Given the description of an element on the screen output the (x, y) to click on. 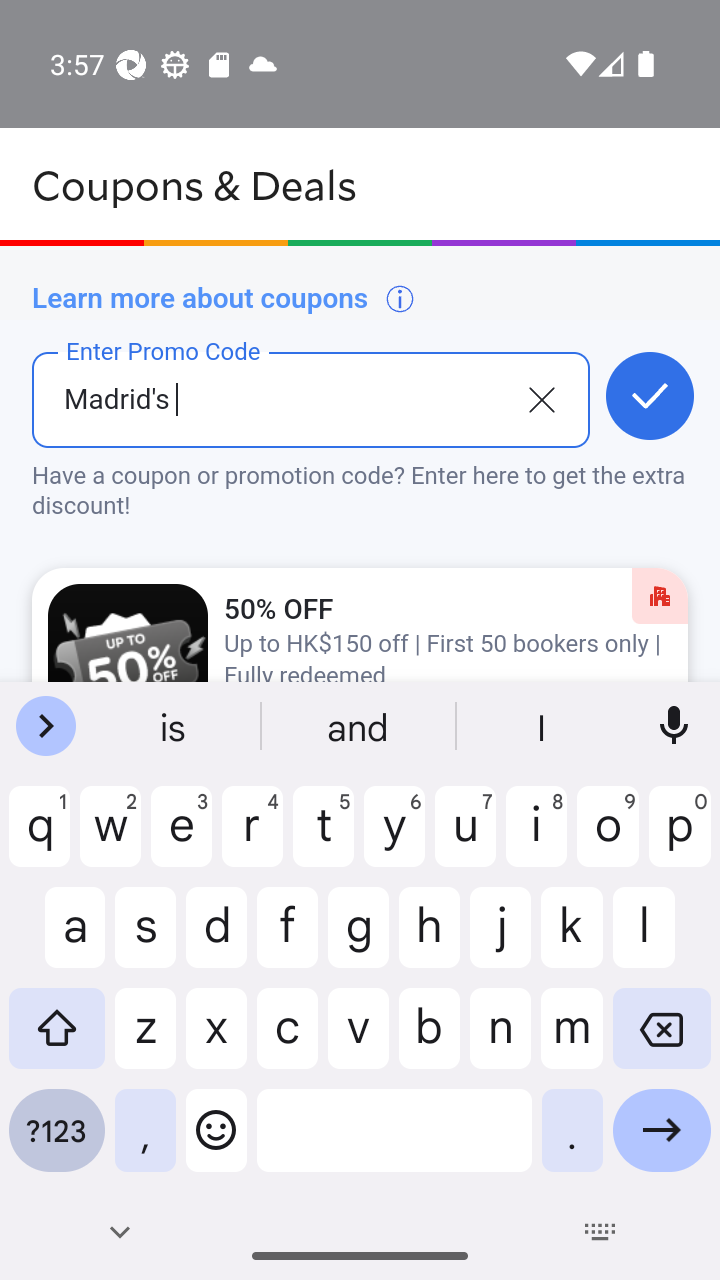
Learn more about coupons (224, 298)
Madrid's  (278, 415)
Clear (541, 398)
